Given the description of an element on the screen output the (x, y) to click on. 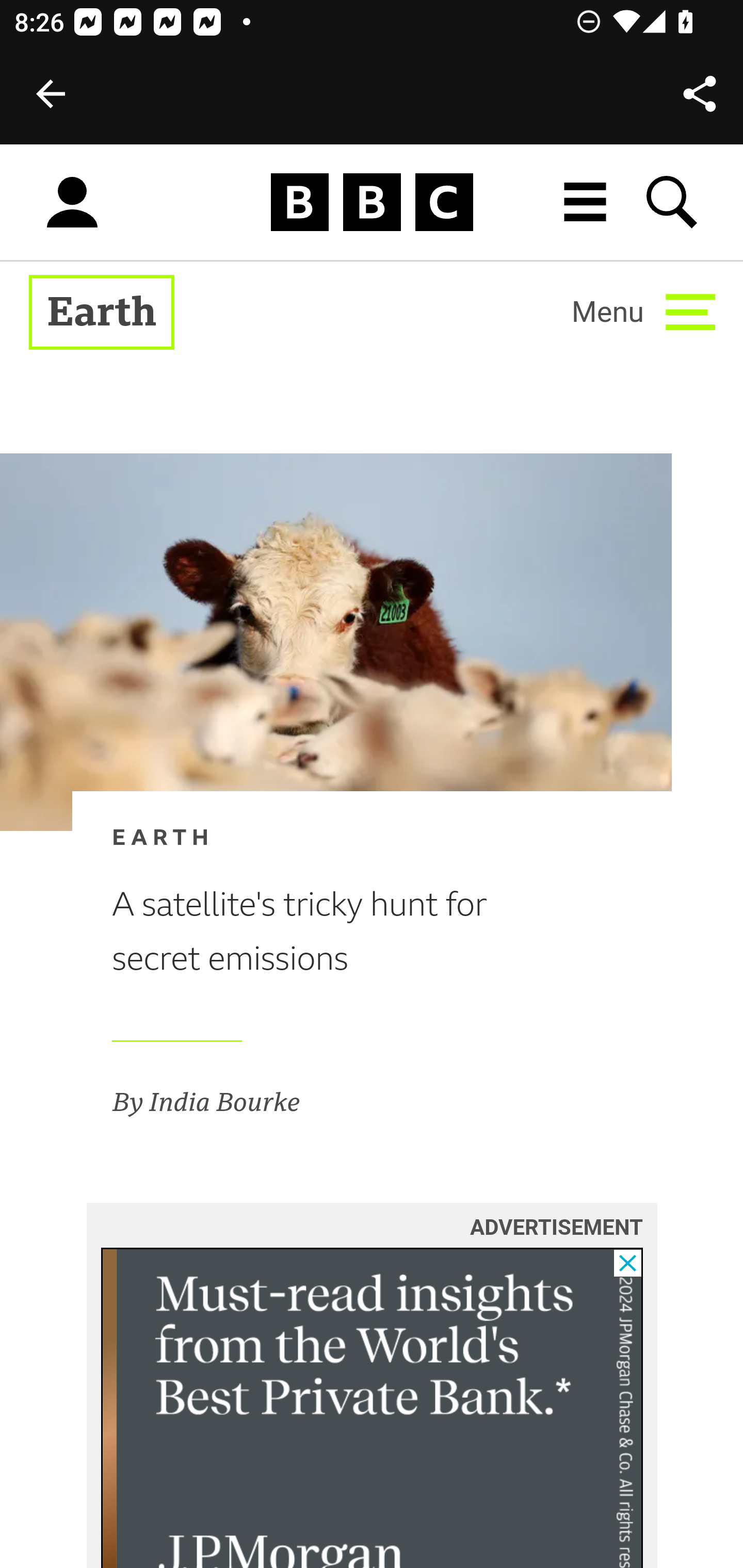
Back (50, 93)
Share (699, 93)
All BBC destinations menu (585, 202)
Search BBC (672, 202)
Sign in (71, 203)
Homepage (371, 203)
Open more navigation (643, 311)
Earth (101, 312)
Cows at a dairy farm in New Zealand (Getty Images) (336, 641)
EARTH (339, 838)
A satellite's tricky hunt for secret emissions (339, 932)
